Given the description of an element on the screen output the (x, y) to click on. 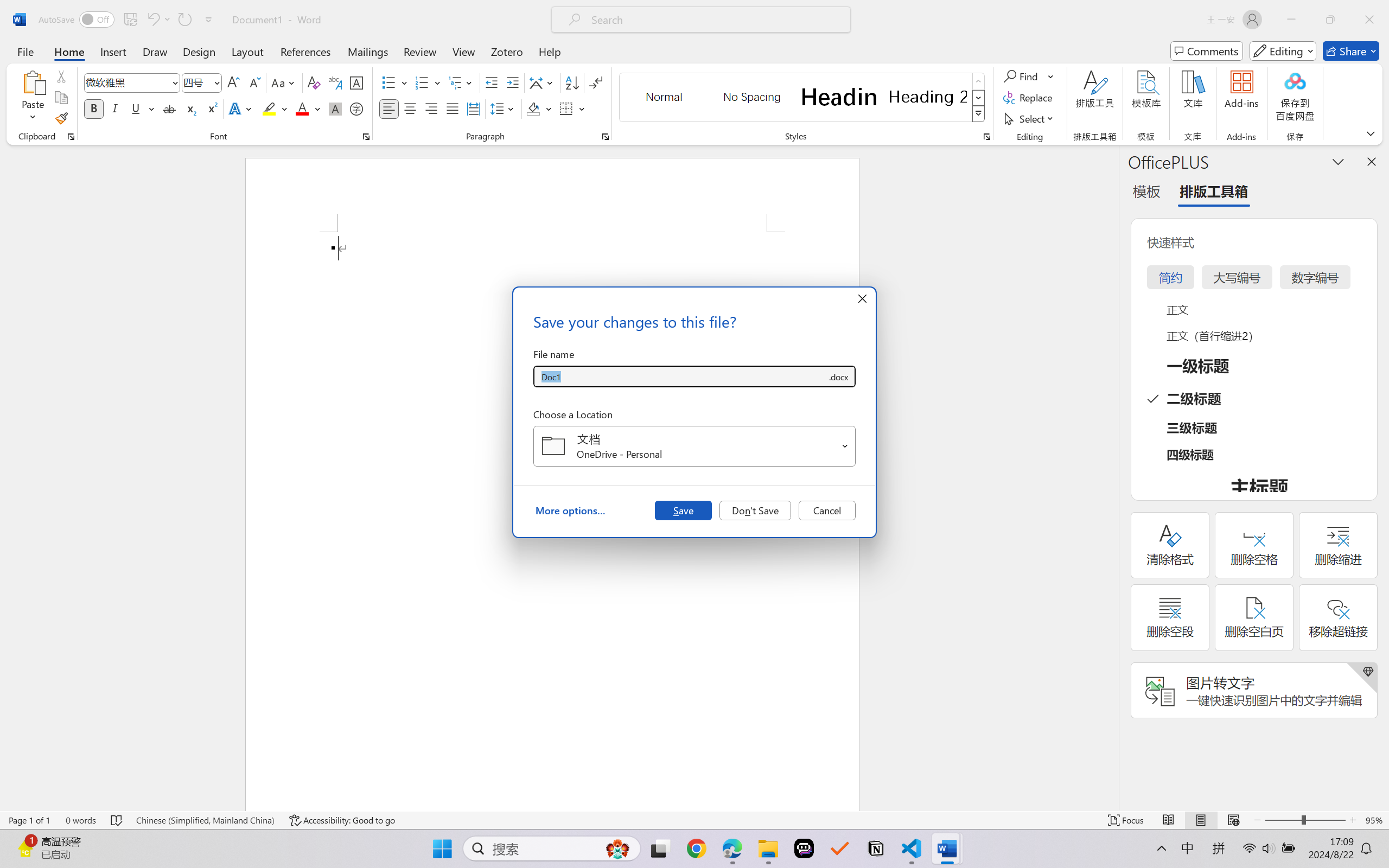
Choose a Location (694, 446)
Class: MsoCommandBar (694, 819)
Don't Save (755, 509)
